Given the description of an element on the screen output the (x, y) to click on. 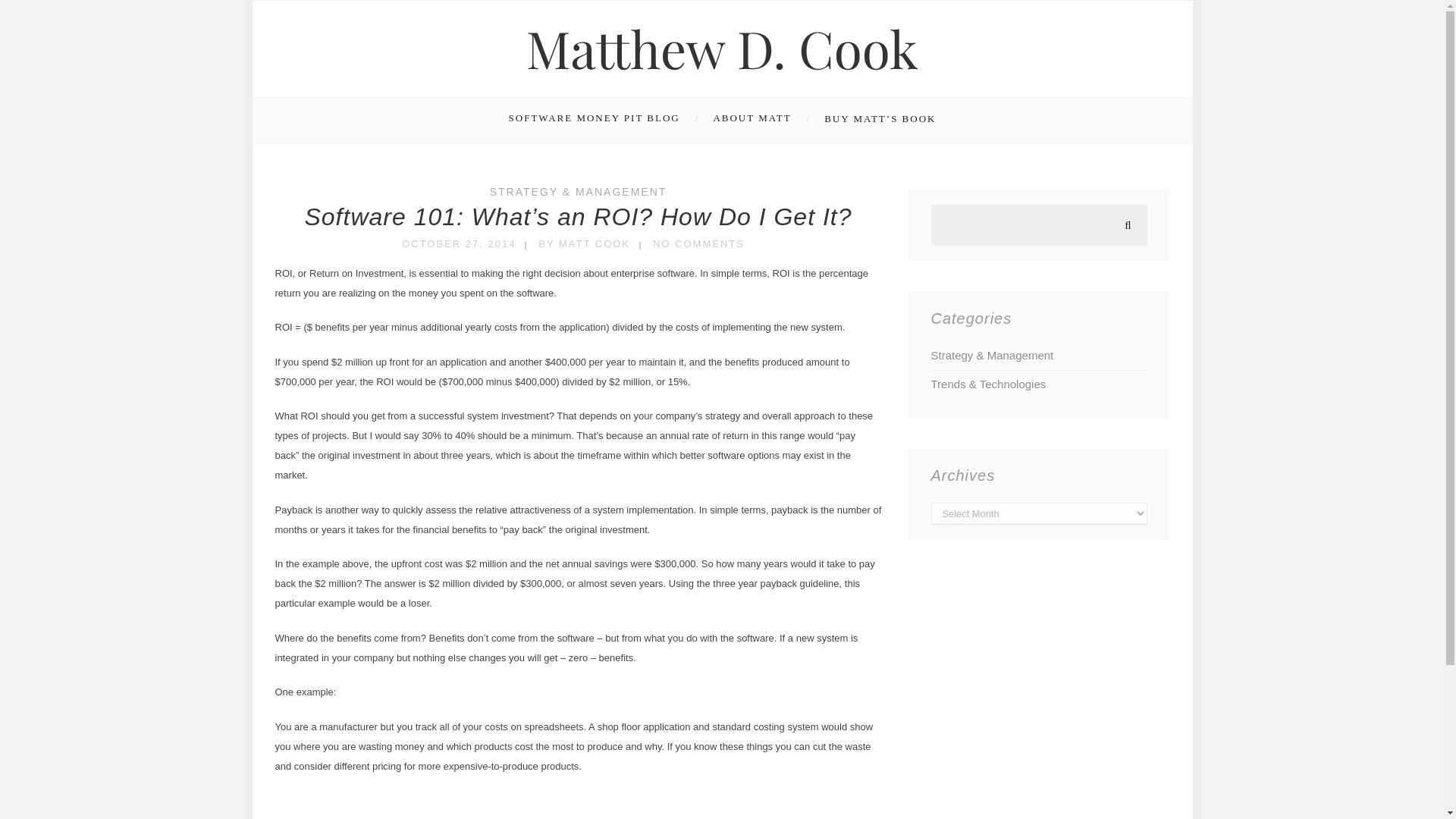
OCTOBER 27, 2014 (458, 243)
NO COMMENTS (698, 243)
BY MATT COOK (584, 243)
ABOUT MATT (758, 119)
SOFTWARE MONEY PIT BLOG (605, 119)
